Given the description of an element on the screen output the (x, y) to click on. 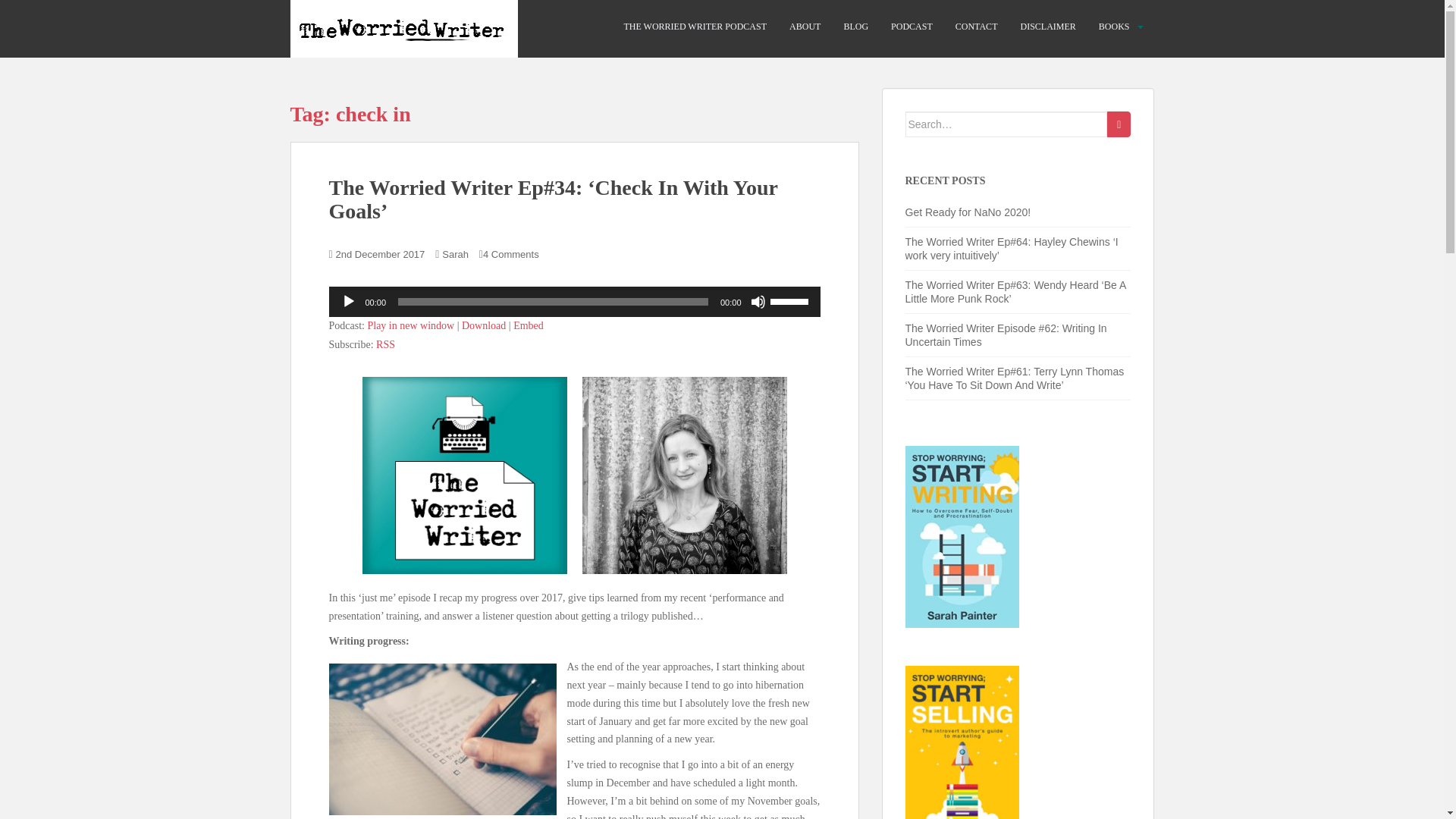
PODCAST (912, 26)
Play (348, 301)
Search for: (1006, 124)
Download (483, 325)
Play in new window (410, 325)
RSS (384, 344)
2nd December 2017 (380, 254)
Sarah (455, 254)
Search (1118, 124)
THE WORRIED WRITER PODCAST (695, 26)
DISCLAIMER (1047, 26)
Embed (528, 325)
BOOKS (1114, 26)
Mute (758, 301)
4 Comments (510, 254)
